Given the description of an element on the screen output the (x, y) to click on. 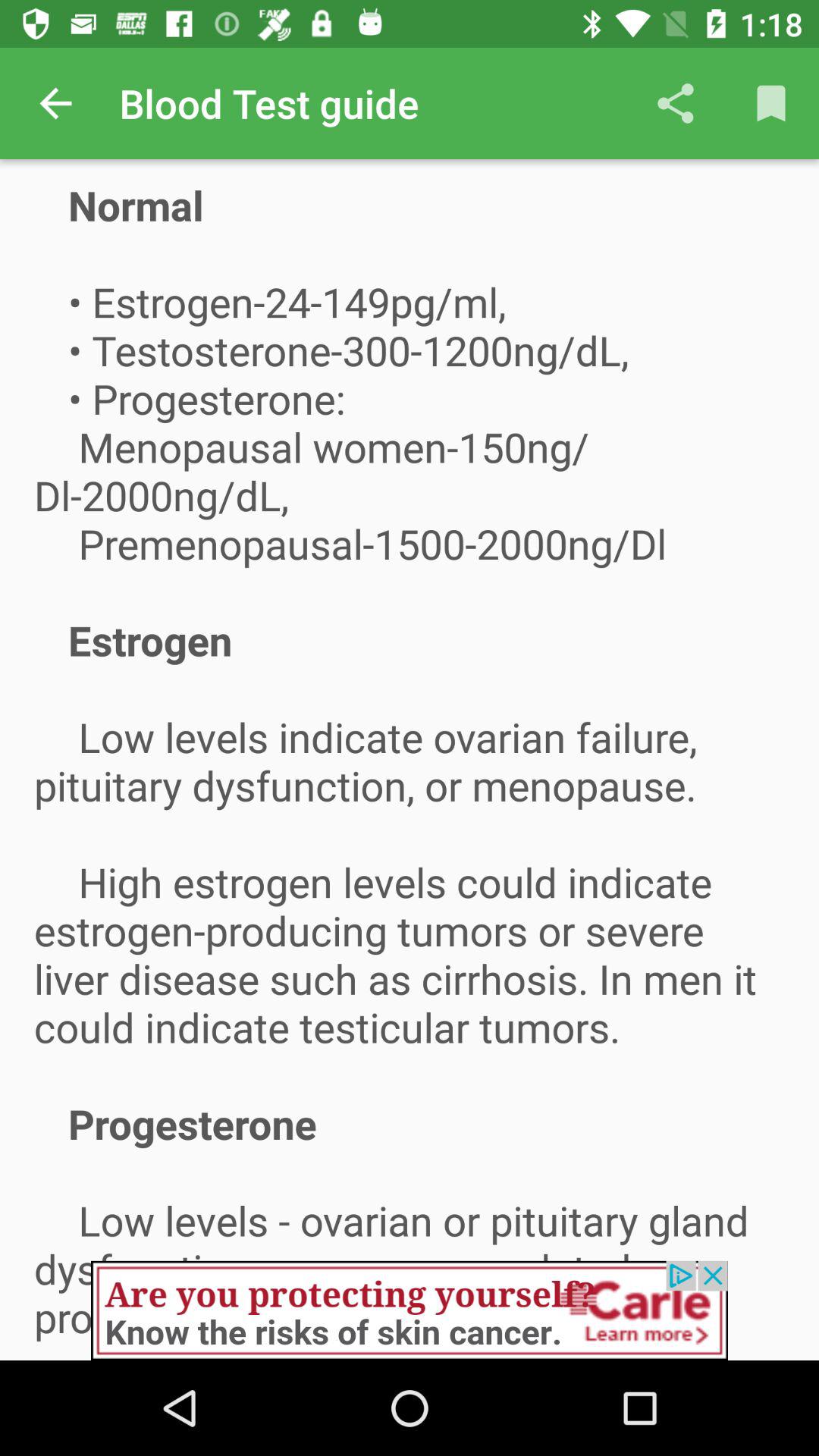
click on the skin cancer advertisement (409, 1310)
